Given the description of an element on the screen output the (x, y) to click on. 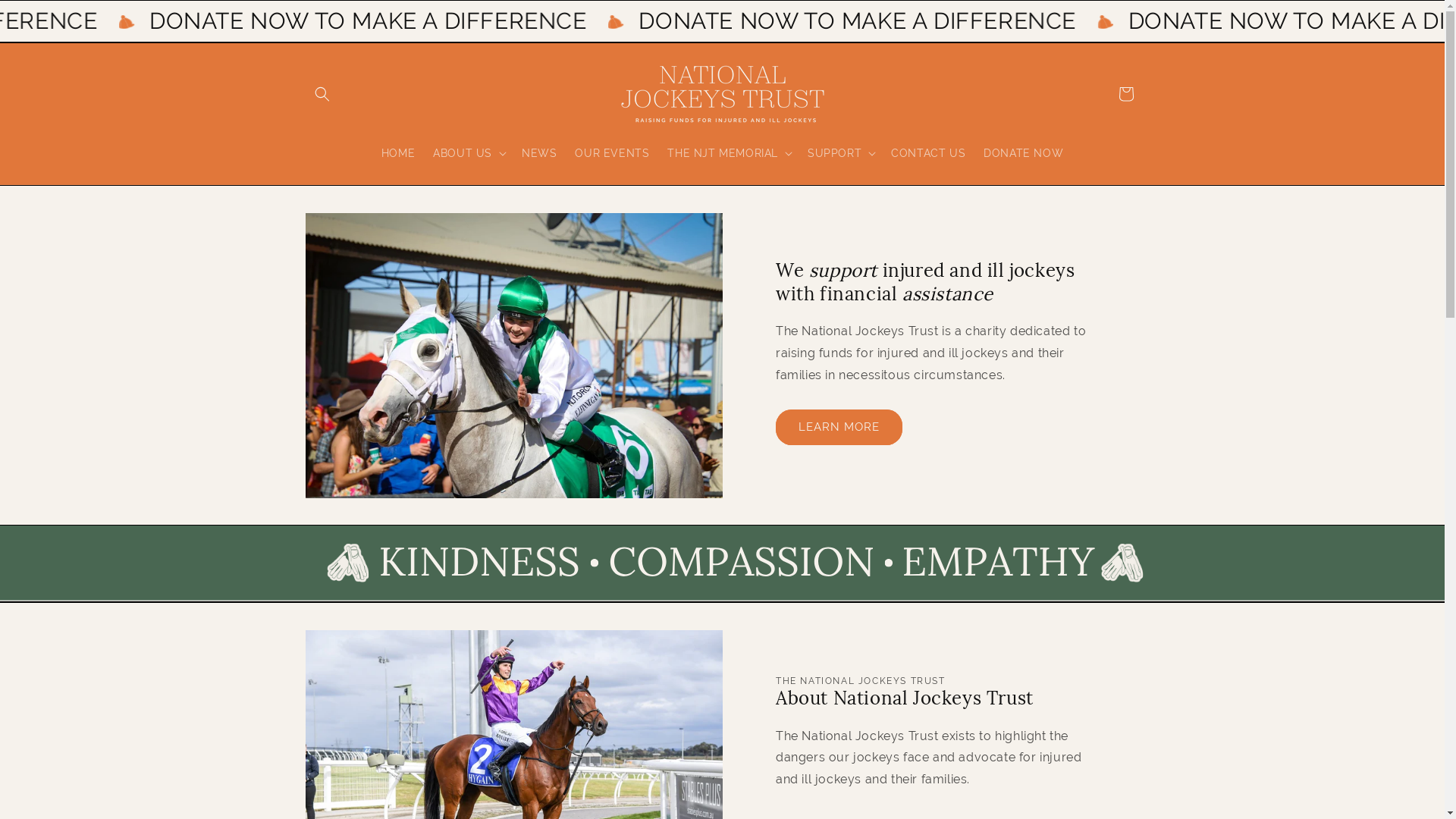
LEARN MORE Element type: text (838, 426)
OUR EVENTS Element type: text (611, 152)
CONTACT US Element type: text (927, 152)
Cart Element type: text (1125, 93)
DONATE NOW Element type: text (1023, 152)
NEWS Element type: text (538, 152)
HOME Element type: text (397, 152)
